Given the description of an element on the screen output the (x, y) to click on. 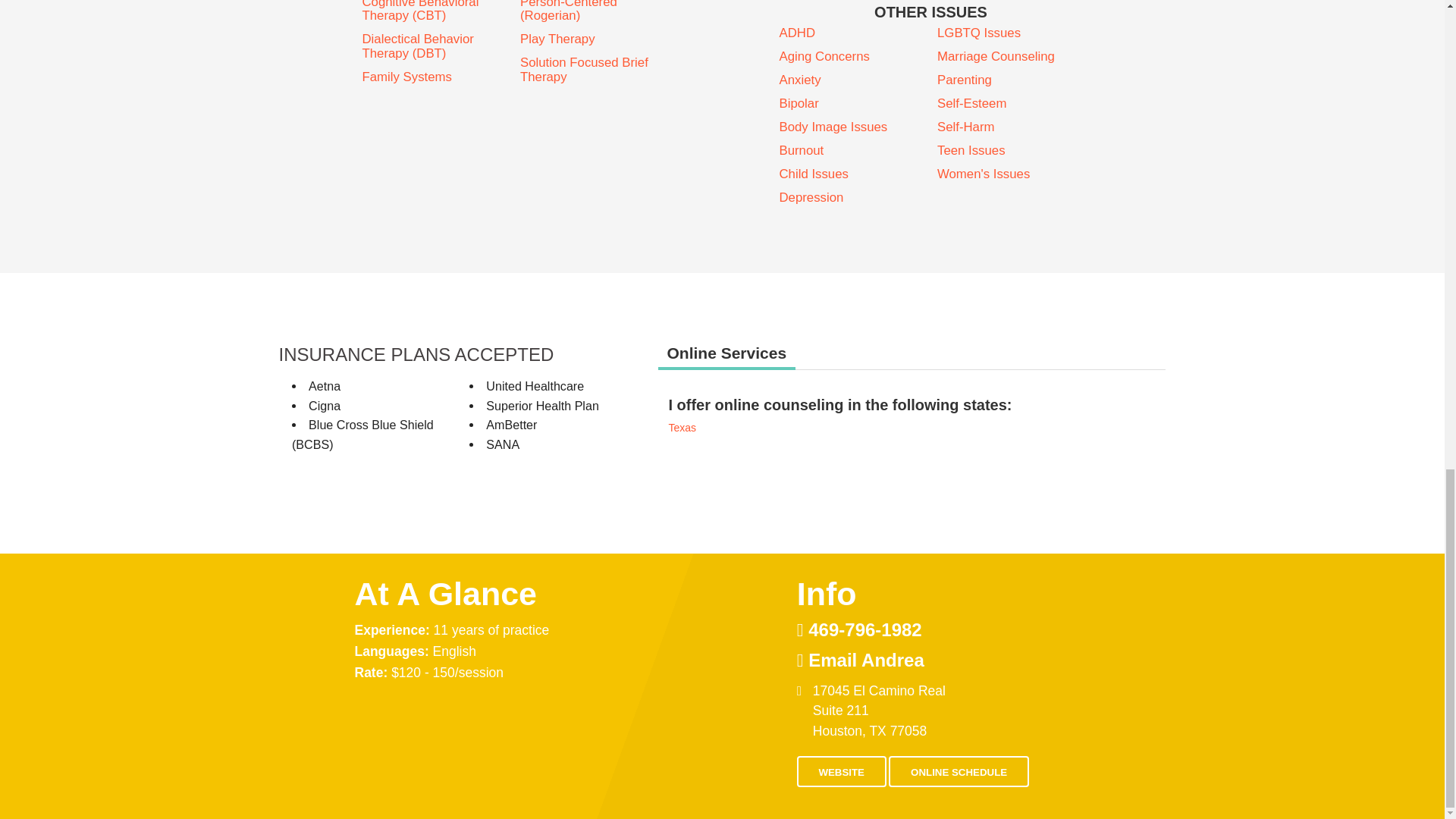
Learn about Family Systems (435, 77)
Learn about Solution Focused Brief Therapy (592, 70)
Learn about Play Therapy (592, 38)
Family Systems (435, 77)
